Given the description of an element on the screen output the (x, y) to click on. 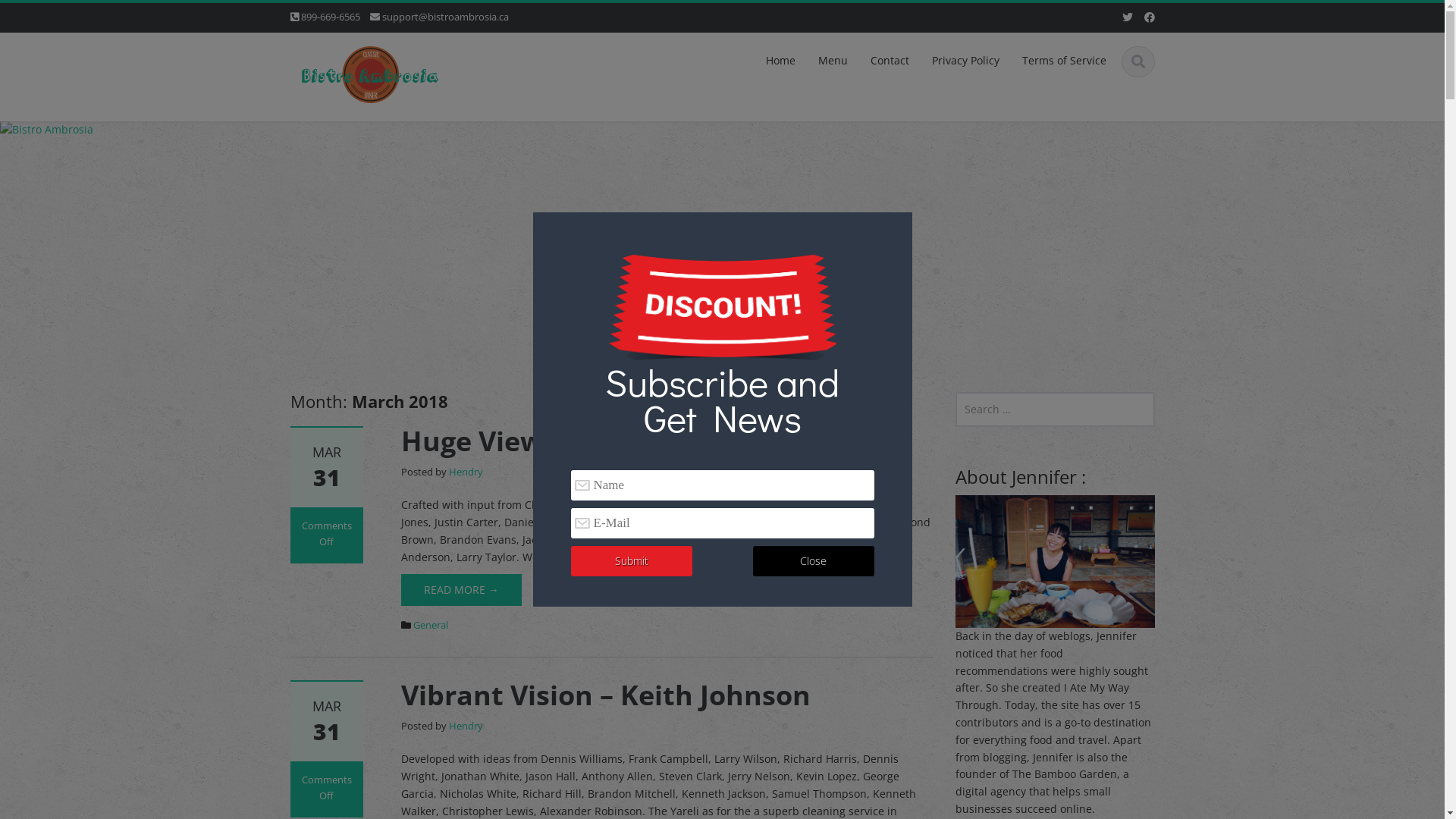
Hendry Element type: text (465, 471)
Submit Element type: text (630, 561)
Close Element type: text (812, 561)
Terms of Service Element type: text (1063, 60)
Contact Element type: text (888, 60)
Home Element type: text (779, 60)
General Element type: text (430, 624)
Bistro Ambrosia Element type: hover (369, 71)
Privacy Policy Element type: text (965, 60)
Search Element type: text (36, 16)
899-669-6565 Element type: text (329, 16)
support@bistroambrosia.ca Element type: text (445, 16)
Menu Element type: text (832, 60)
Hendry Element type: text (465, 725)
